Given the description of an element on the screen output the (x, y) to click on. 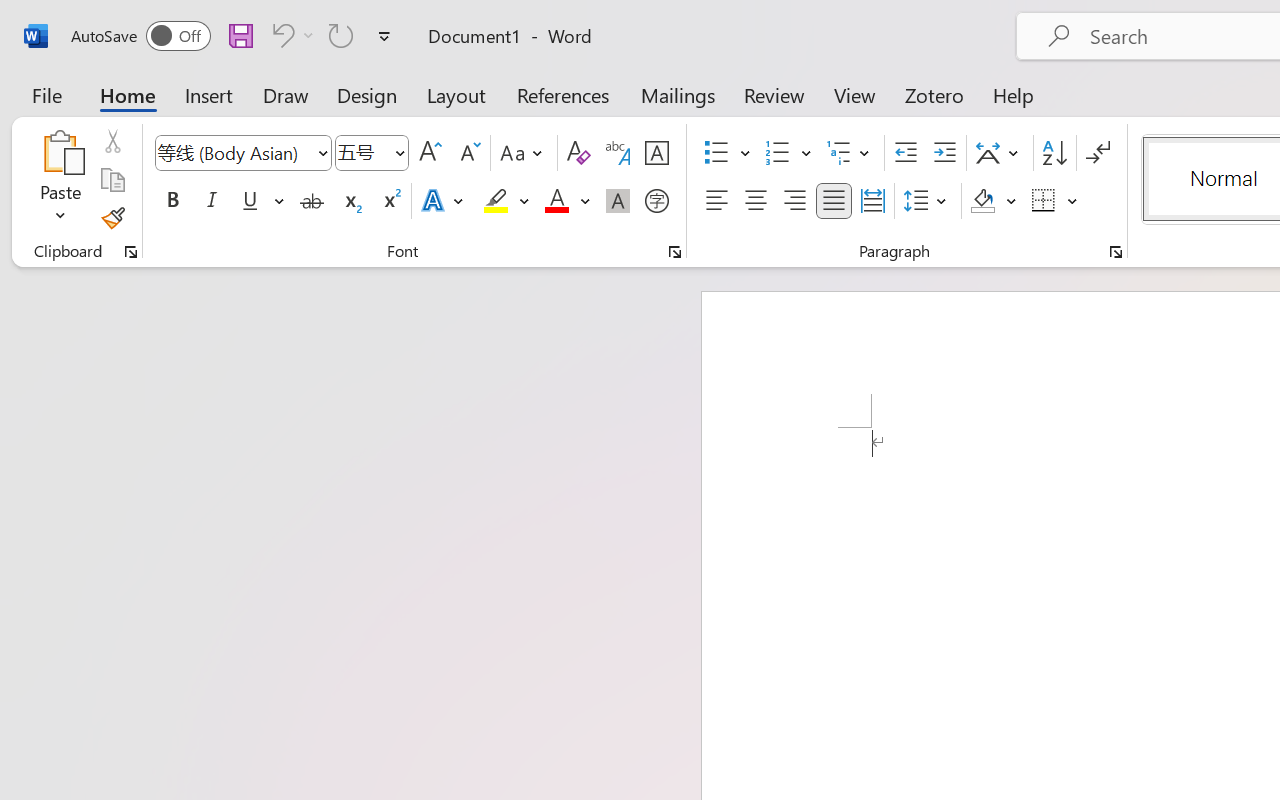
Can't Repeat (341, 35)
